Given the description of an element on the screen output the (x, y) to click on. 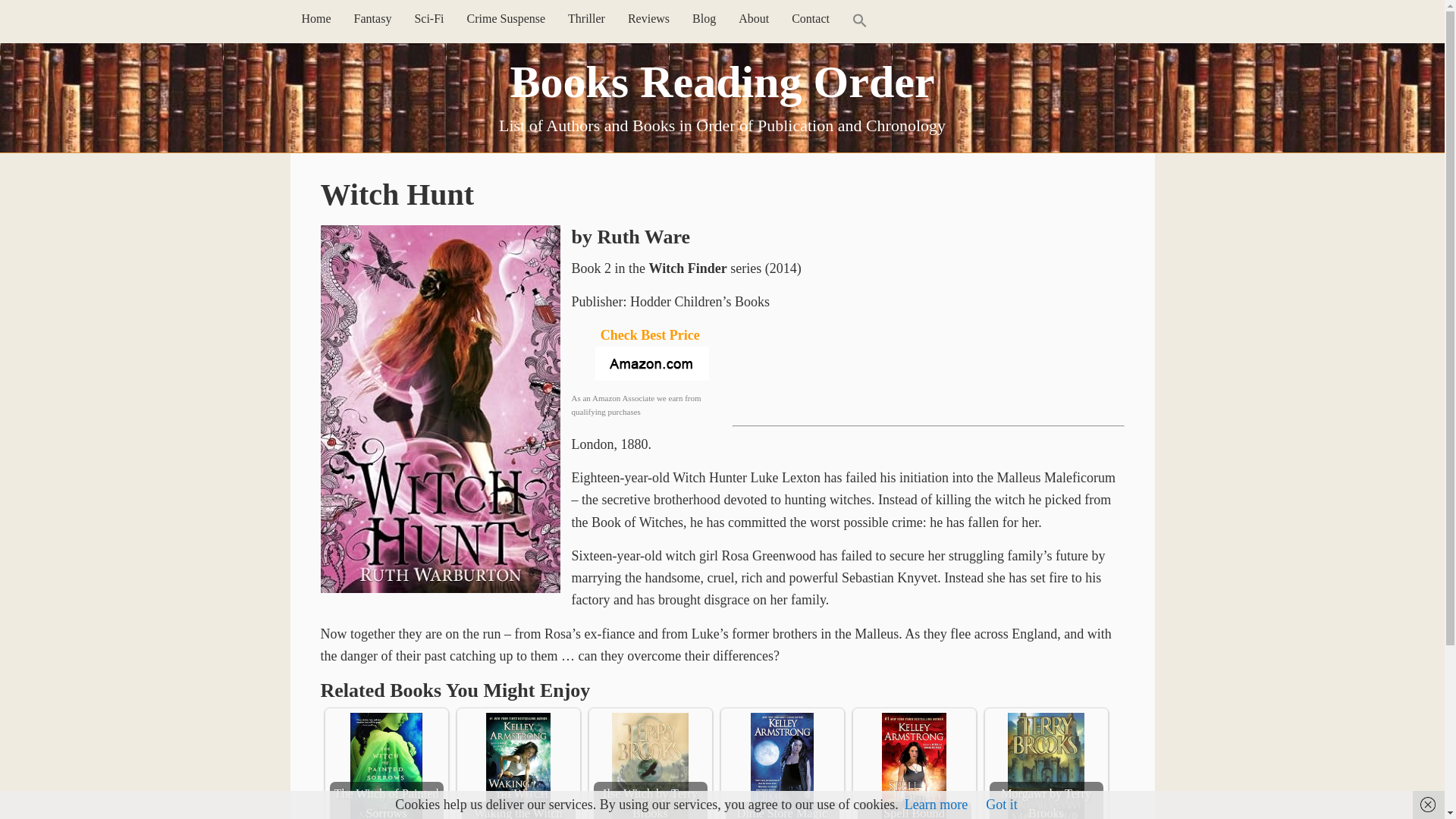
Home (315, 18)
Morgawr by Terry Brooks (1045, 765)
Dime Store Magic (781, 765)
Reviews (648, 18)
Got it (1001, 804)
The Witch of Painted Sorrows (385, 765)
Waking the Witch (518, 765)
Blog (703, 18)
Contact (810, 18)
Crime Suspense (506, 18)
Fantasy (372, 18)
Ilse Witch by Terry Brooks (649, 765)
Learn more (936, 804)
About (753, 18)
Spell Bound (914, 765)
